Given the description of an element on the screen output the (x, y) to click on. 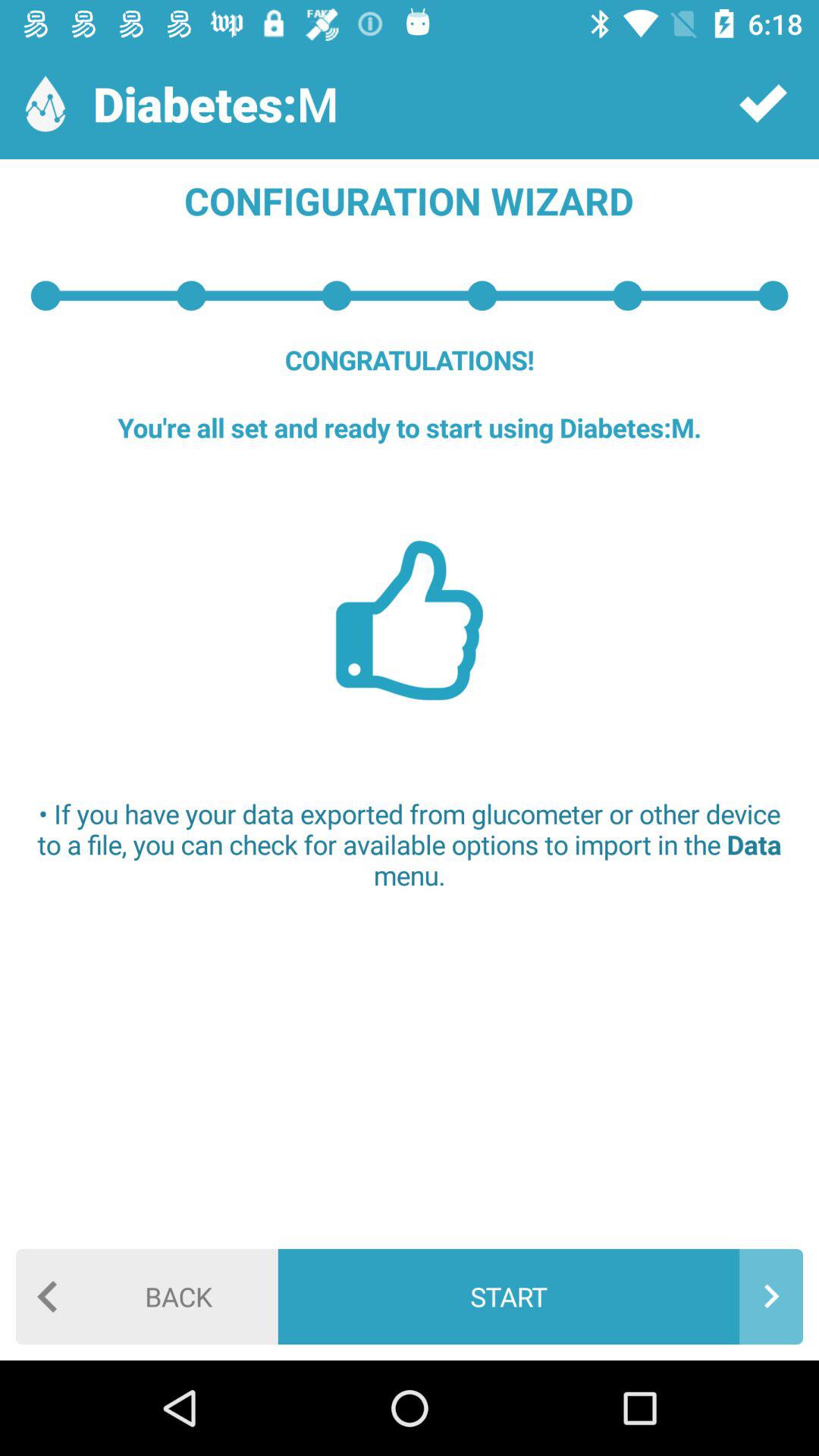
choose item next to the start (146, 1296)
